Given the description of an element on the screen output the (x, y) to click on. 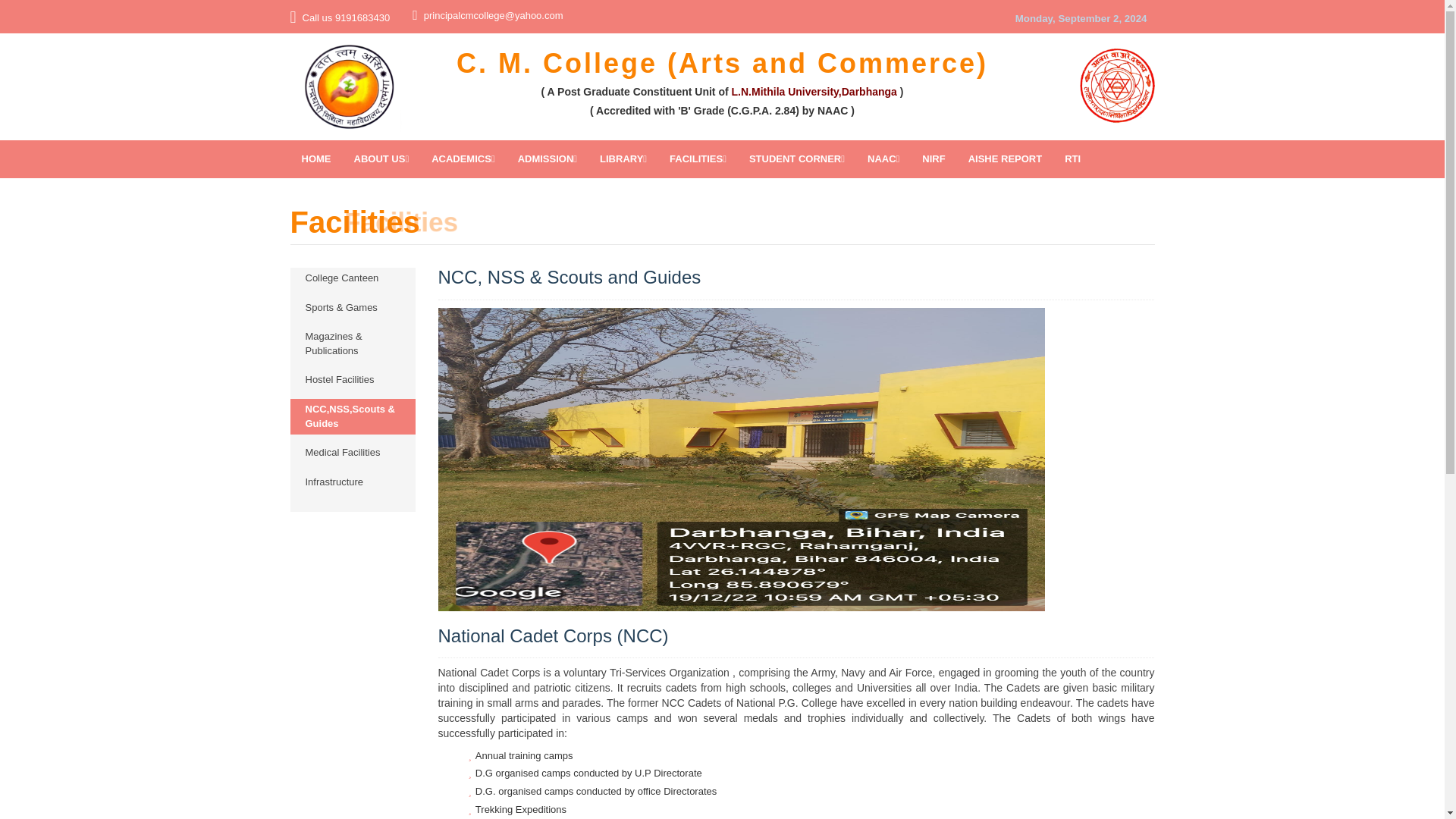
LIBRARY (623, 159)
HOME (315, 159)
Call us 9191683430 (346, 17)
ACADEMICS (462, 159)
ABOUT US (381, 159)
ADMISSION (547, 159)
L.N.Mithila University,Darbhanga (814, 91)
